Given the description of an element on the screen output the (x, y) to click on. 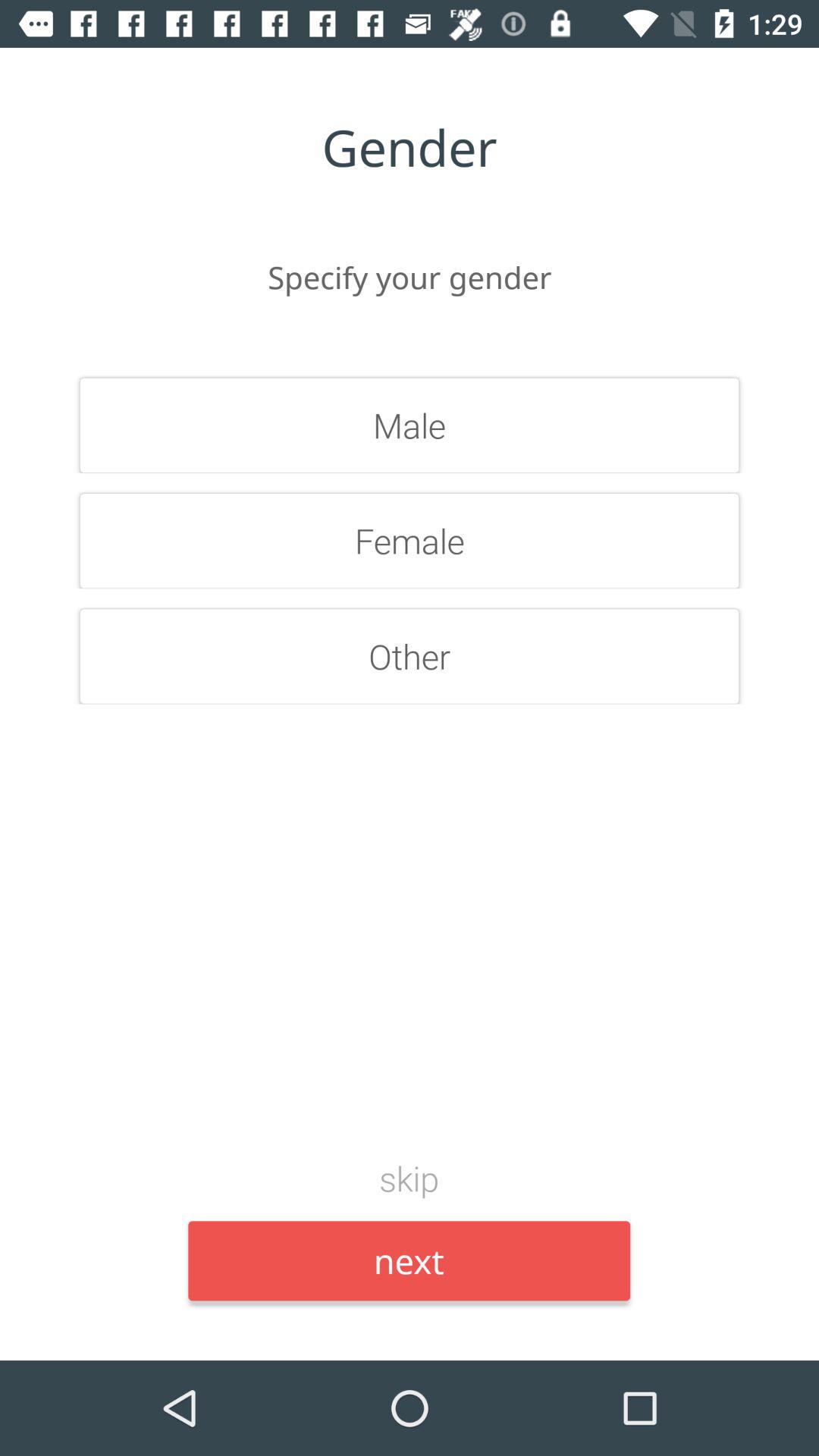
choose the skip icon (409, 1178)
